Given the description of an element on the screen output the (x, y) to click on. 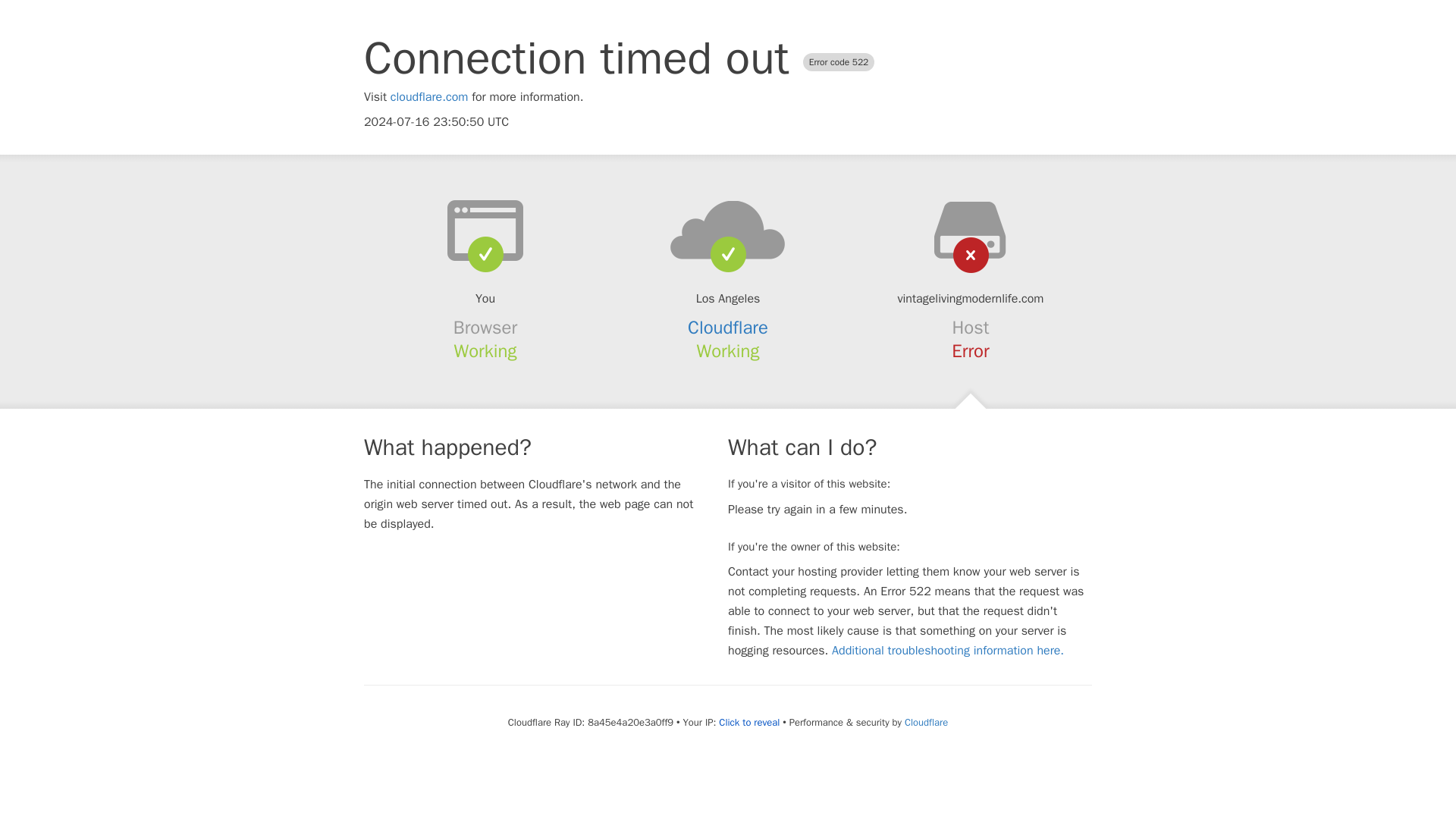
Cloudflare (925, 721)
Additional troubleshooting information here. (947, 650)
Click to reveal (748, 722)
Cloudflare (727, 327)
cloudflare.com (429, 96)
